Given the description of an element on the screen output the (x, y) to click on. 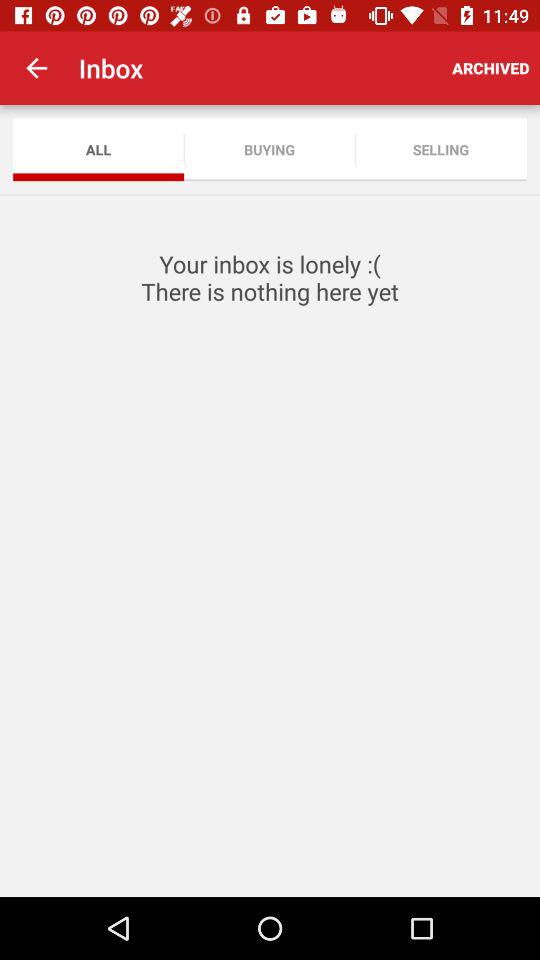
launch app to the right of the all app (269, 149)
